Given the description of an element on the screen output the (x, y) to click on. 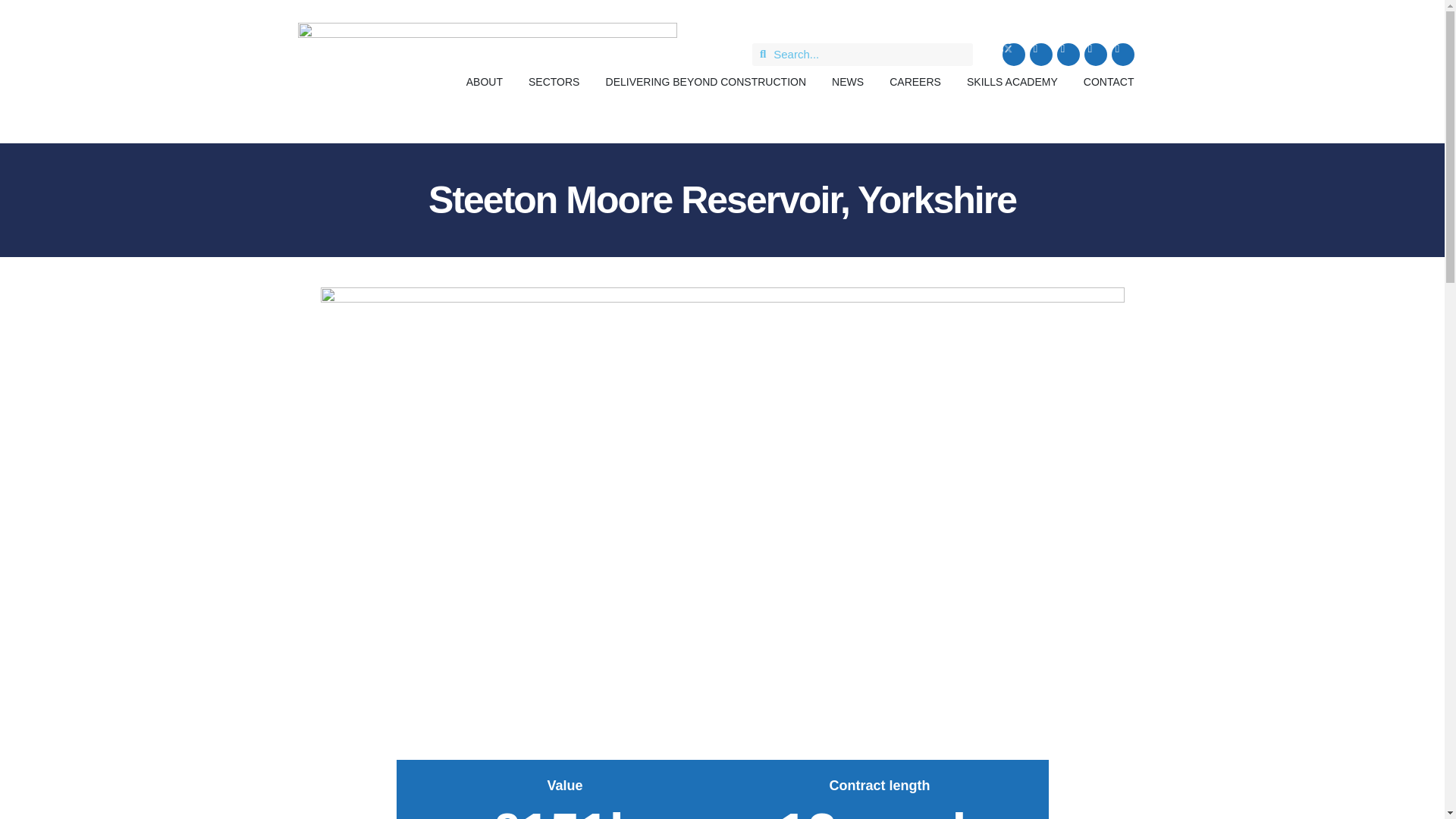
NEWS (847, 80)
Search (868, 53)
CAREERS (914, 80)
SKILLS ACADEMY (1011, 80)
DELIVERING BEYOND CONSTRUCTION (705, 80)
CONTACT (1108, 80)
SECTORS (553, 80)
ABOUT (483, 80)
